Given the description of an element on the screen output the (x, y) to click on. 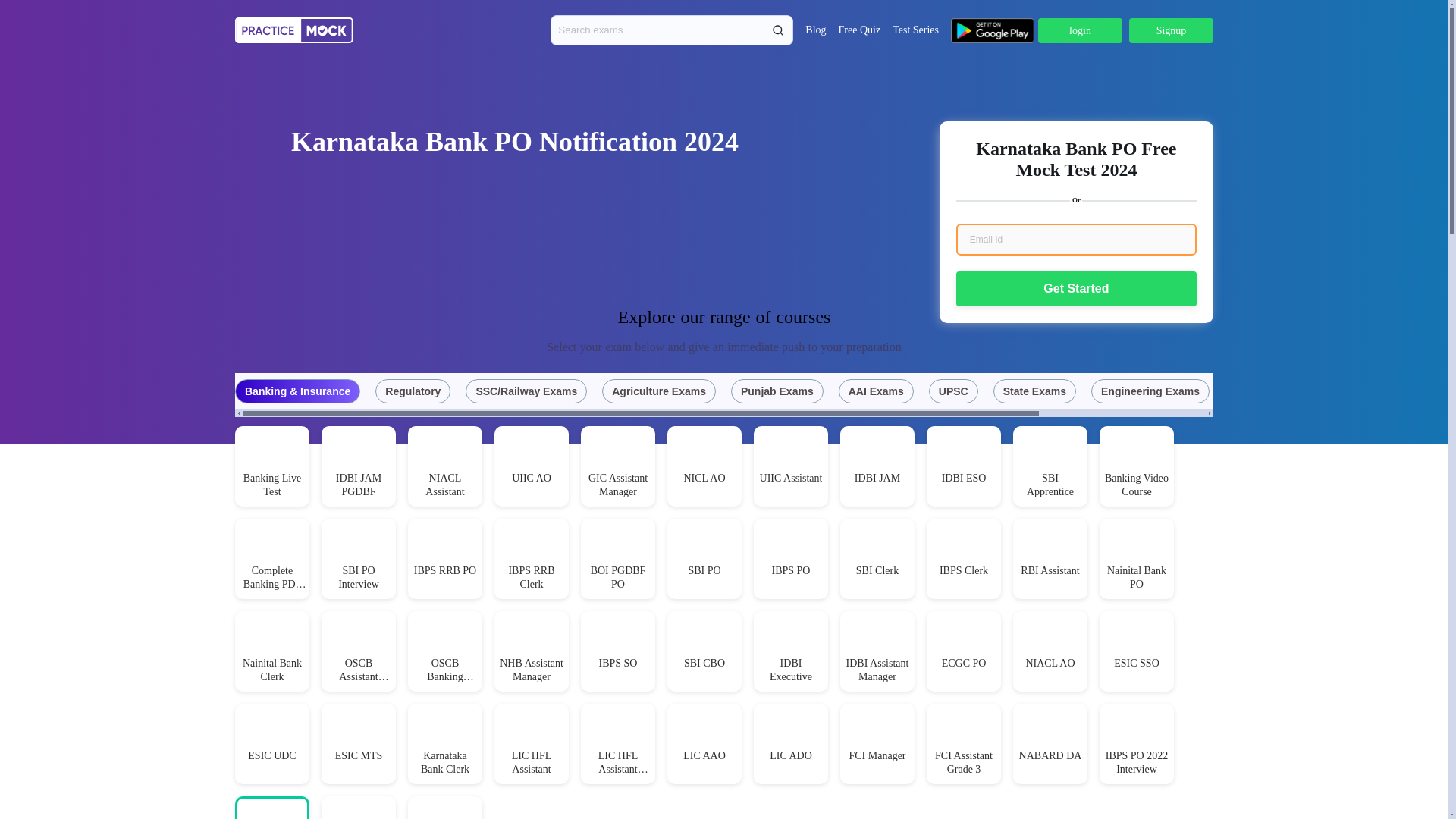
login (1080, 30)
Signup (1170, 30)
Blog (815, 29)
Test Series (915, 29)
Free Quiz (859, 29)
